Given the description of an element on the screen output the (x, y) to click on. 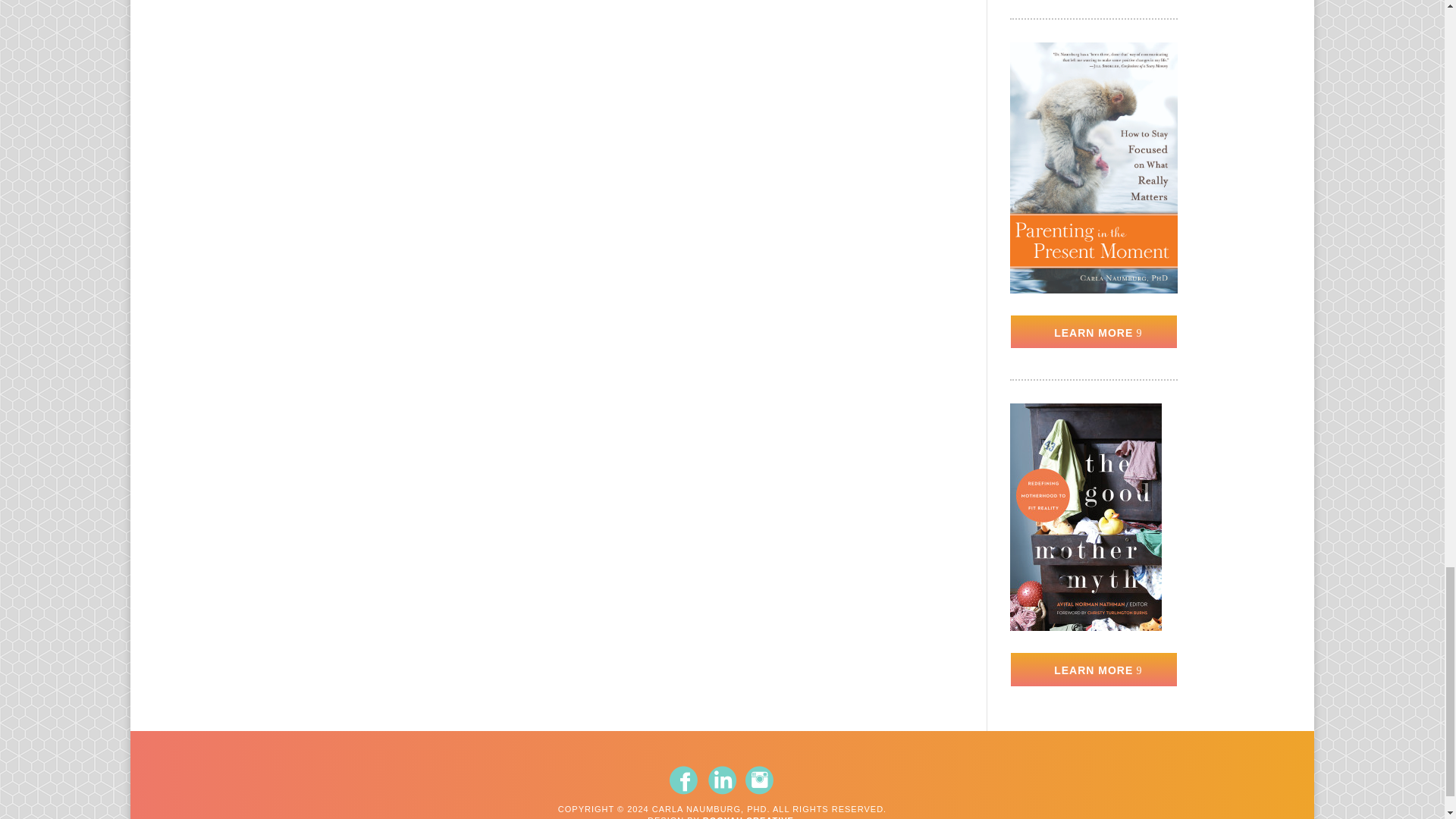
LEARN MORE (1093, 331)
LEARN MORE (1093, 669)
